Given the description of an element on the screen output the (x, y) to click on. 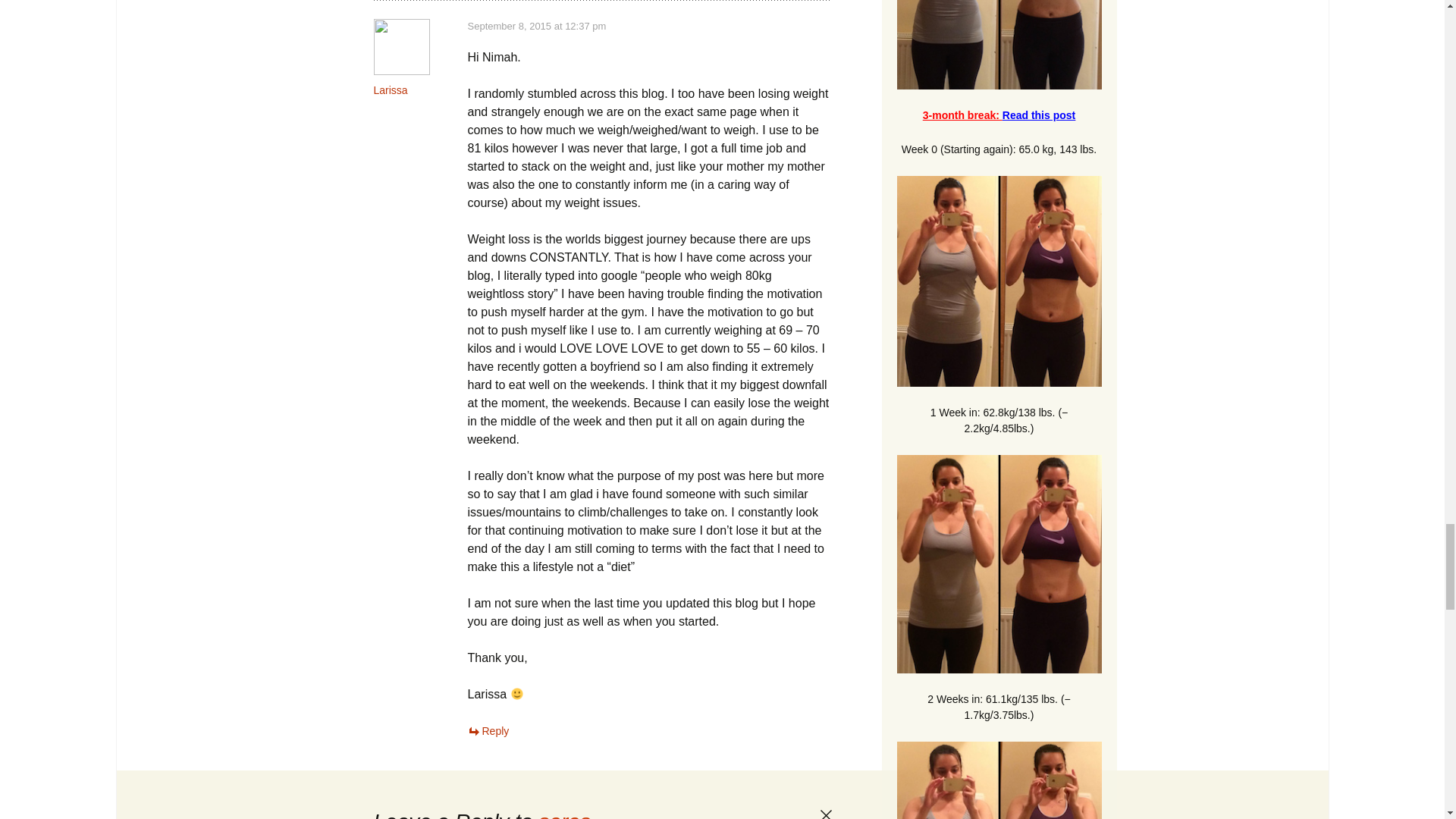
saras (563, 814)
September 8, 2015 at 12:37 pm (536, 25)
Reply (487, 730)
Cancel reply (824, 814)
